Given the description of an element on the screen output the (x, y) to click on. 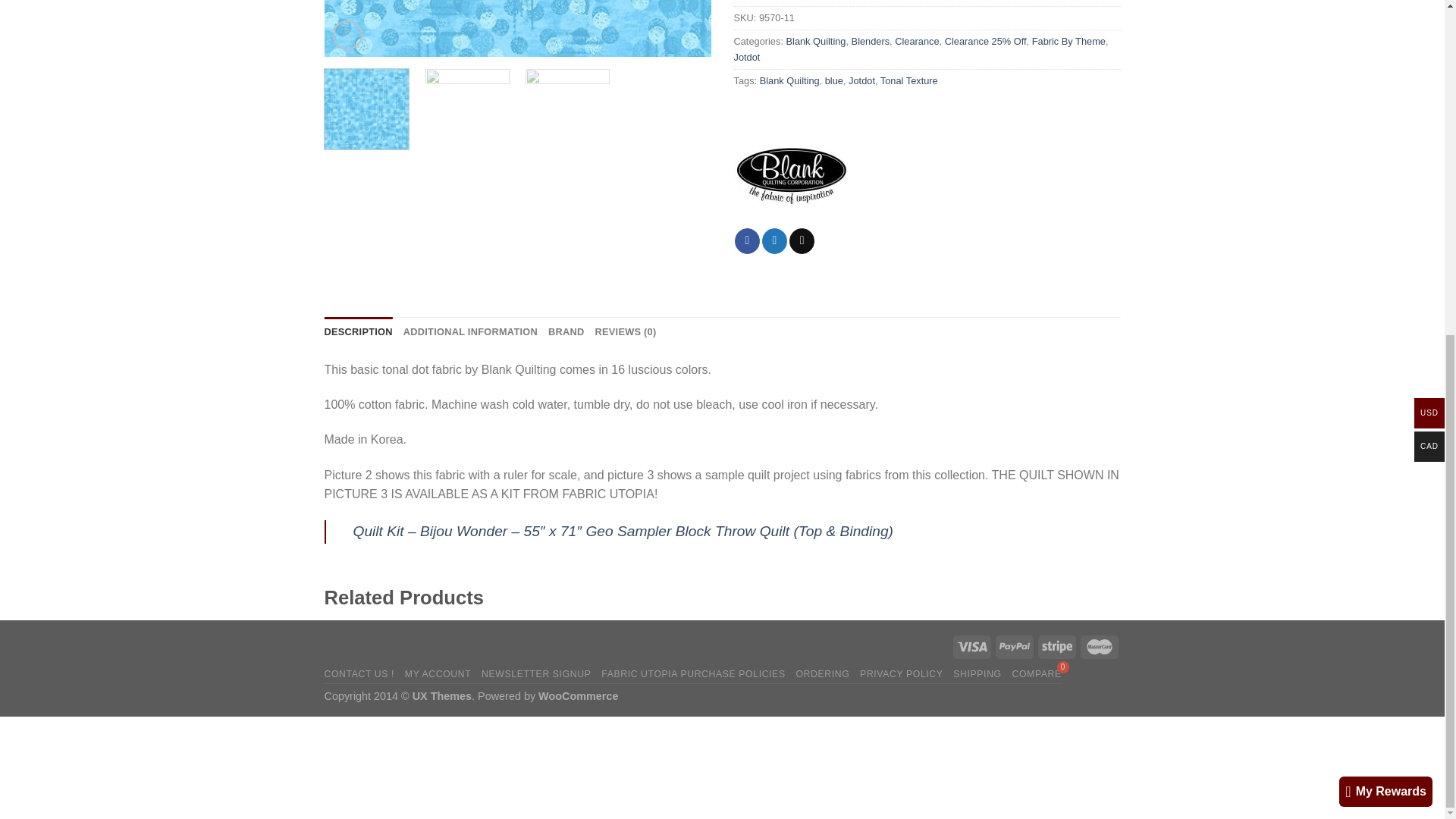
Blank Quilting (790, 171)
Zoom (347, 34)
Share on Facebook (747, 240)
Email to a Friend (801, 240)
Share on Twitter (774, 240)
